Given the description of an element on the screen output the (x, y) to click on. 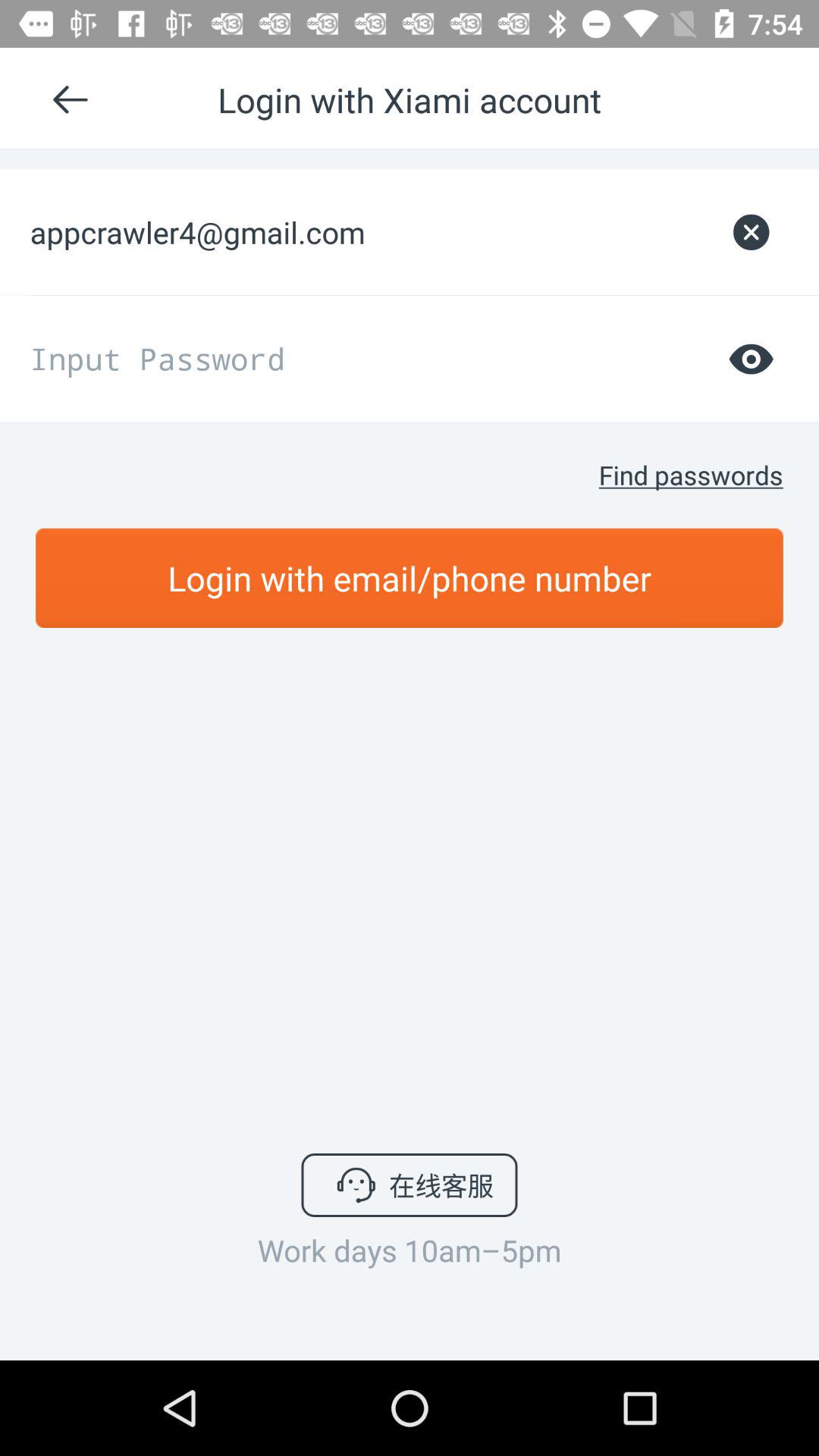
click the appcrawler4@gmail.com icon (370, 232)
